Given the description of an element on the screen output the (x, y) to click on. 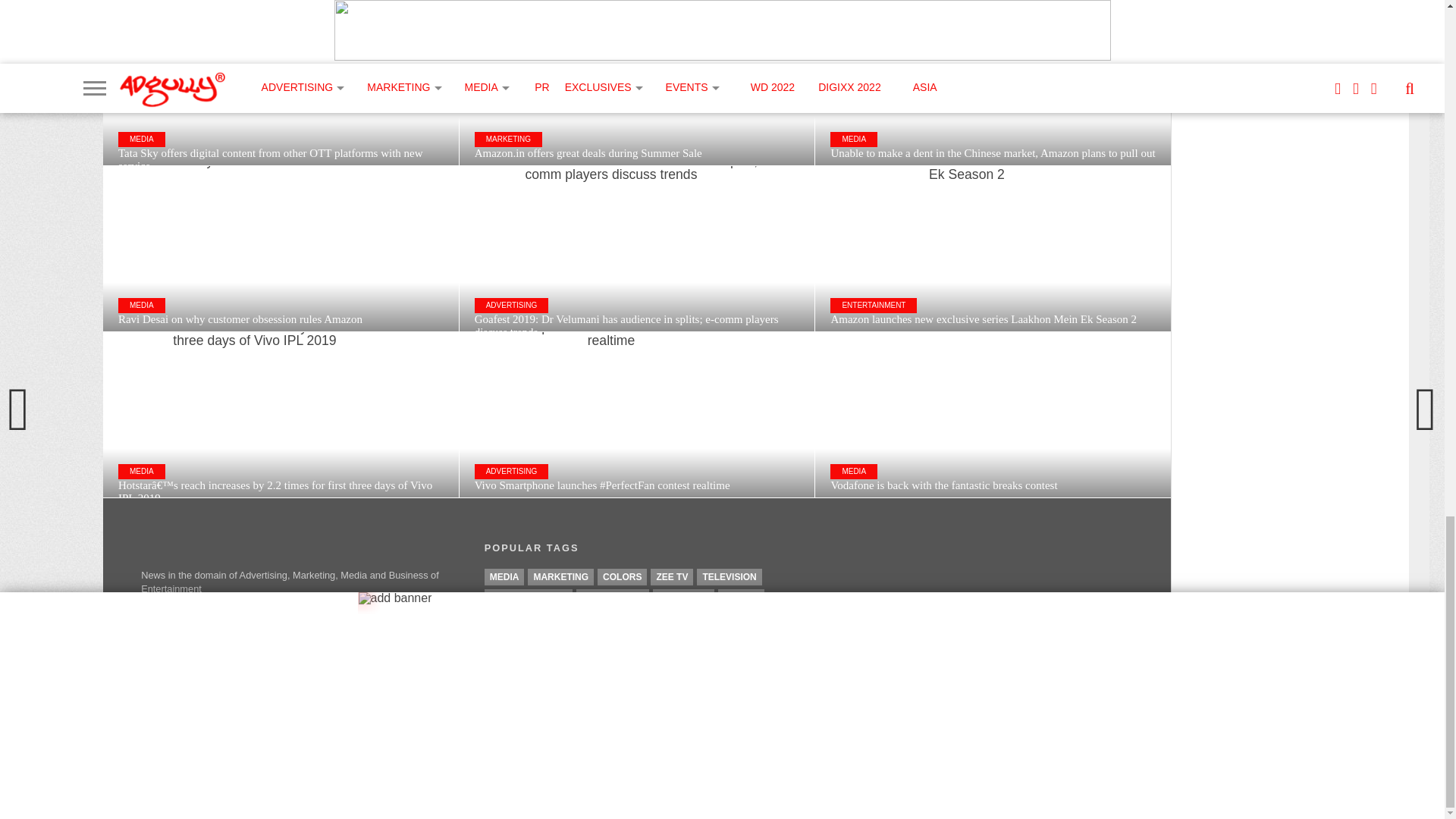
Marketing (560, 576)
Colors (621, 576)
Media (504, 576)
Advertising (612, 597)
Zee TV (671, 576)
Television (729, 576)
Entertainment (528, 597)
